Given the description of an element on the screen output the (x, y) to click on. 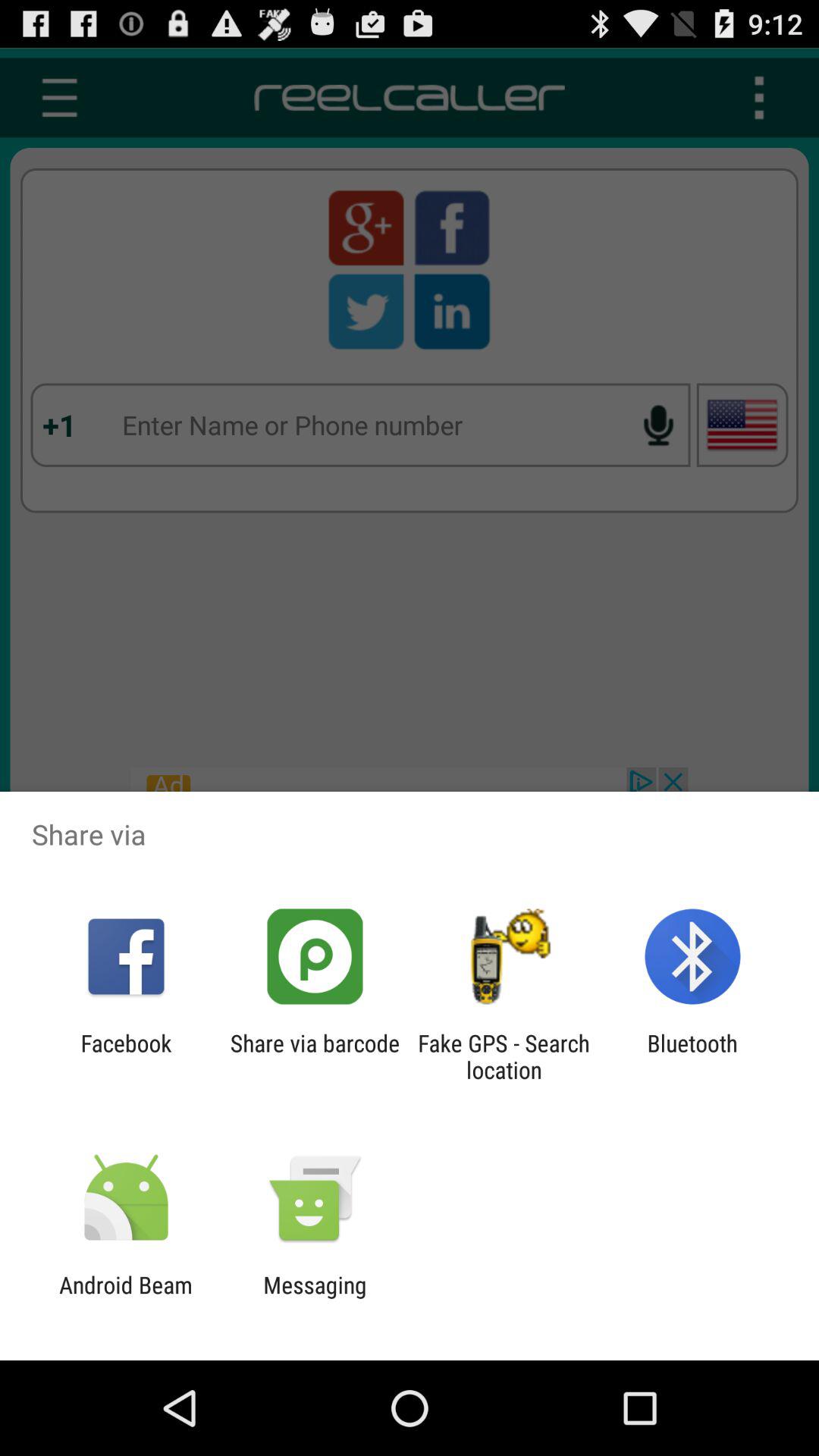
flip to messaging icon (314, 1298)
